Given the description of an element on the screen output the (x, y) to click on. 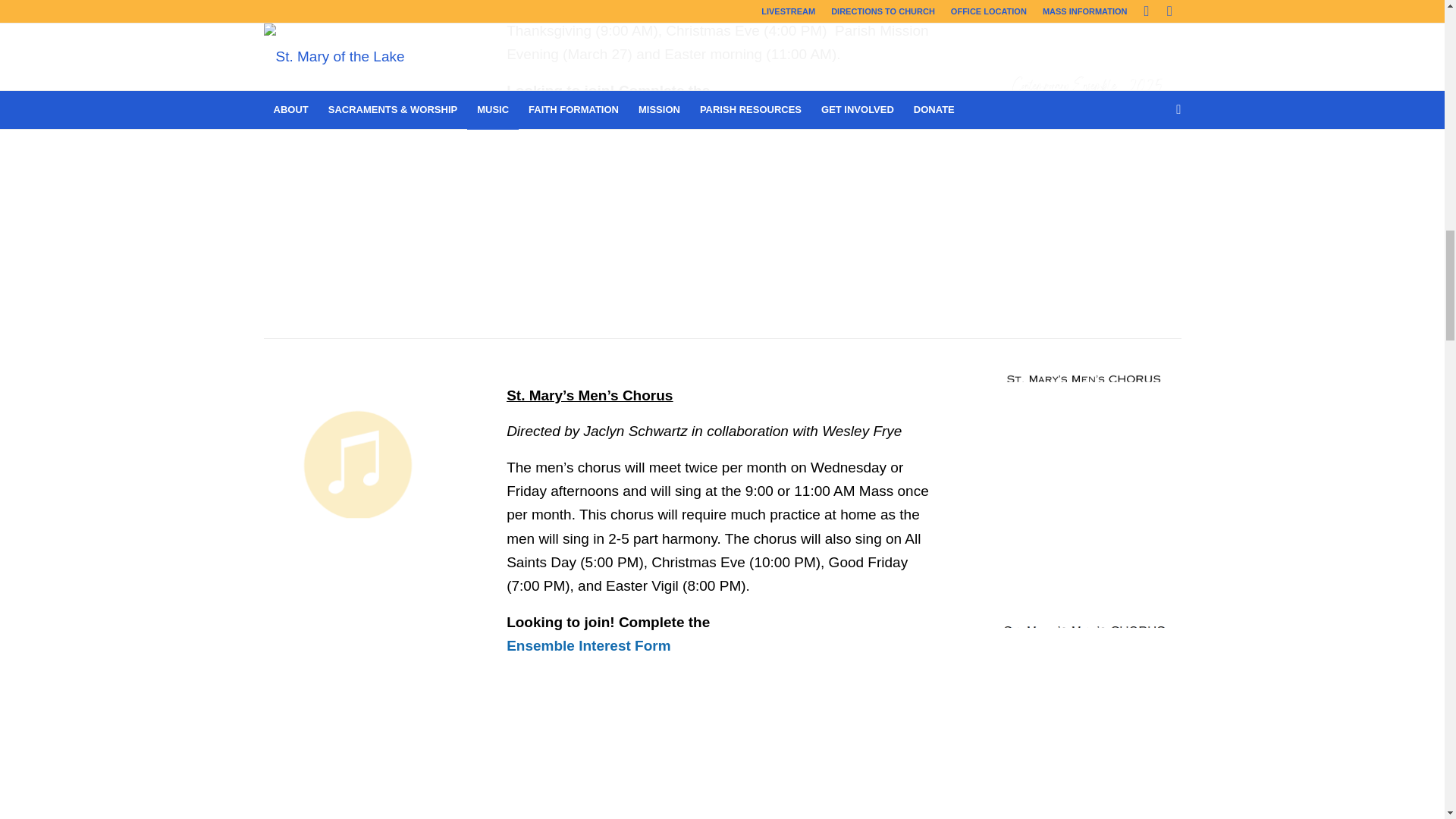
Ensemble Interest Form (587, 114)
Ensemble Interest Form (587, 645)
M5 (357, 2)
CE (1086, 28)
